Given the description of an element on the screen output the (x, y) to click on. 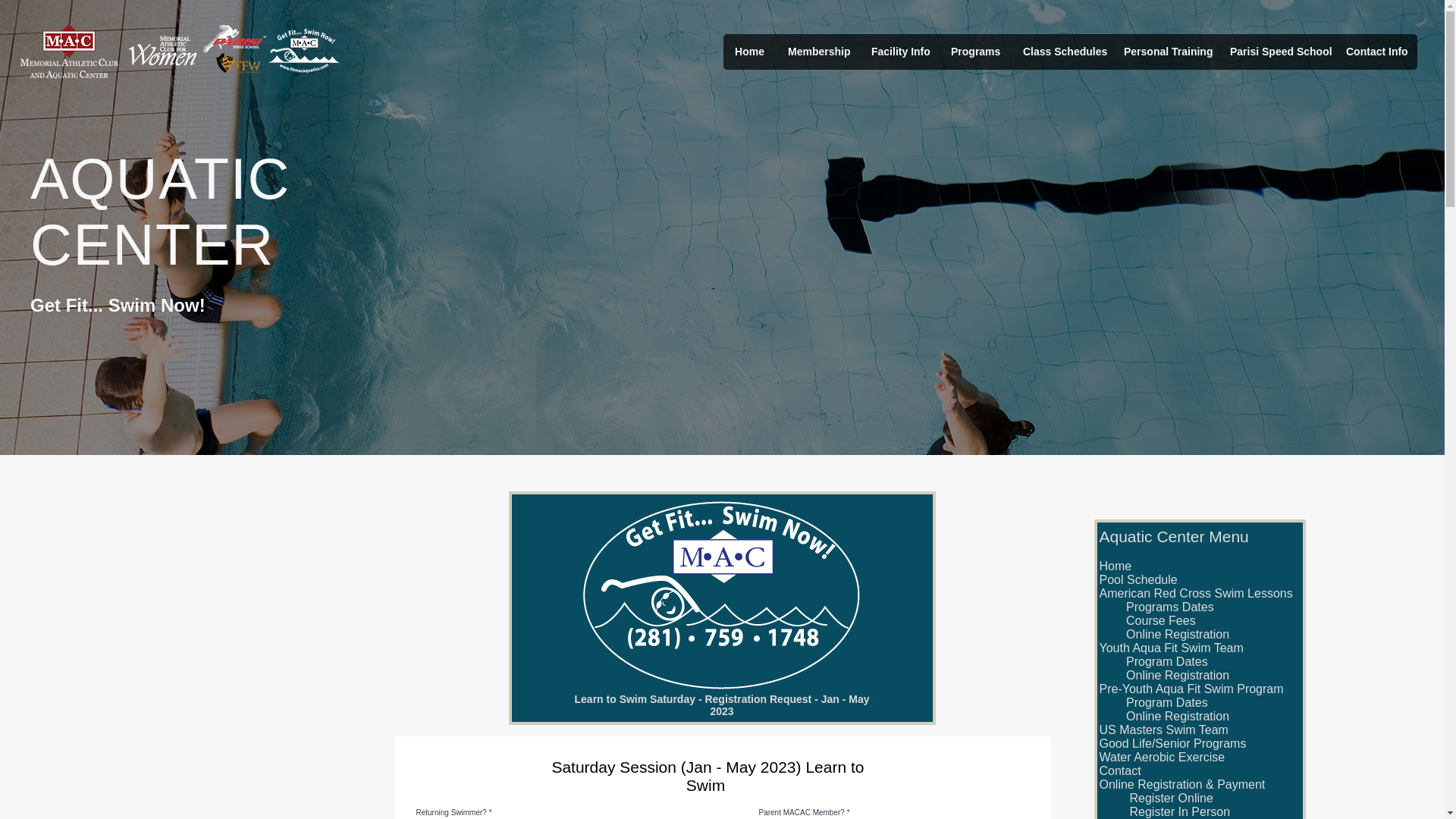
Parisi Speed School (1275, 51)
Facility Info (899, 51)
google ad manager (608, 46)
Programs (974, 51)
Home (749, 51)
Membership (817, 51)
Class Schedules (1061, 51)
Personal Training (1164, 51)
